Given the description of an element on the screen output the (x, y) to click on. 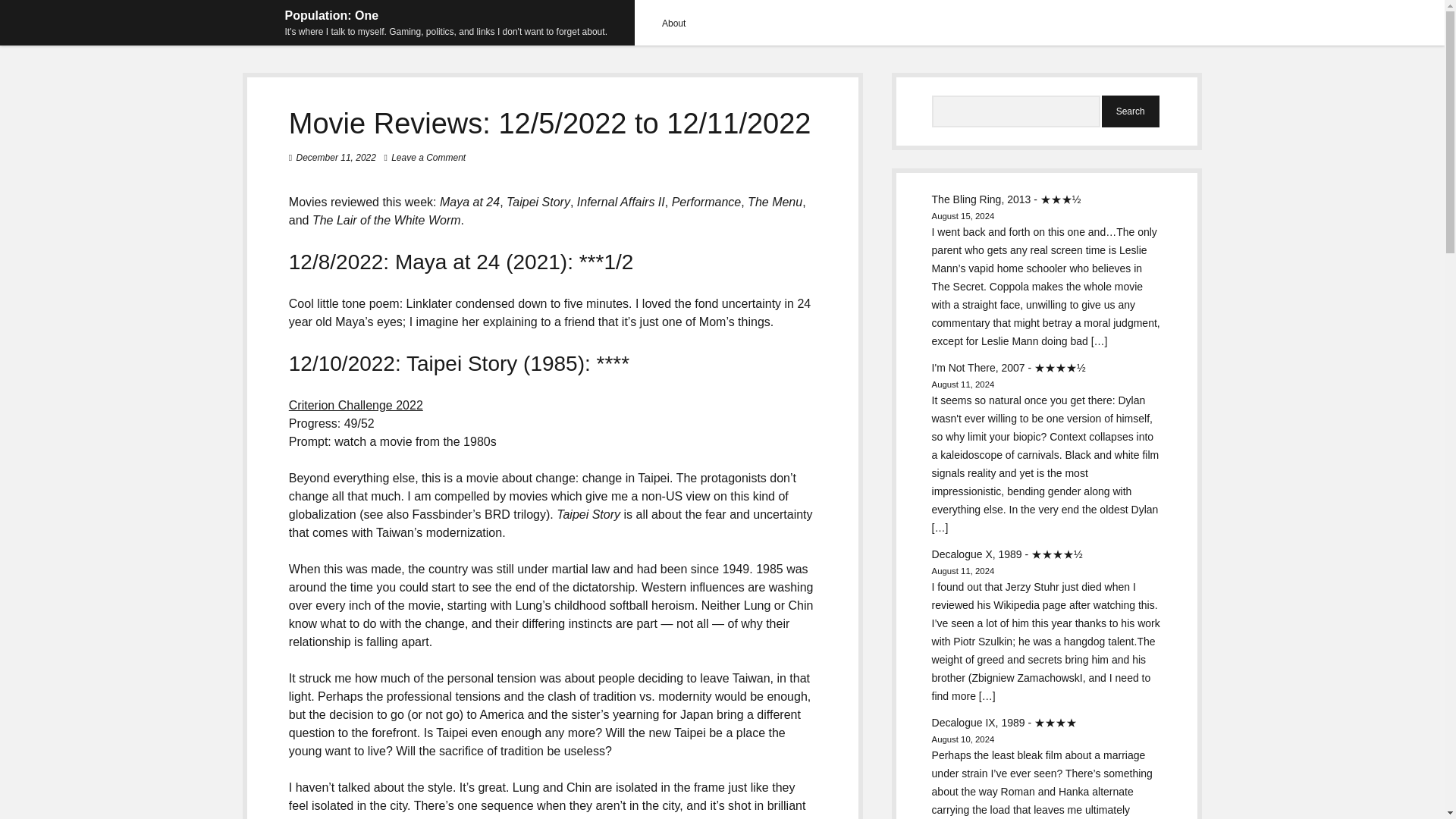
Search (1130, 111)
Search (1130, 111)
Search for: (1015, 111)
Leave a Comment (428, 157)
Population: One (331, 15)
Criterion Challenge 2022 (355, 404)
December 11, 2022 (336, 157)
Search (1130, 111)
About (673, 23)
